Given the description of an element on the screen output the (x, y) to click on. 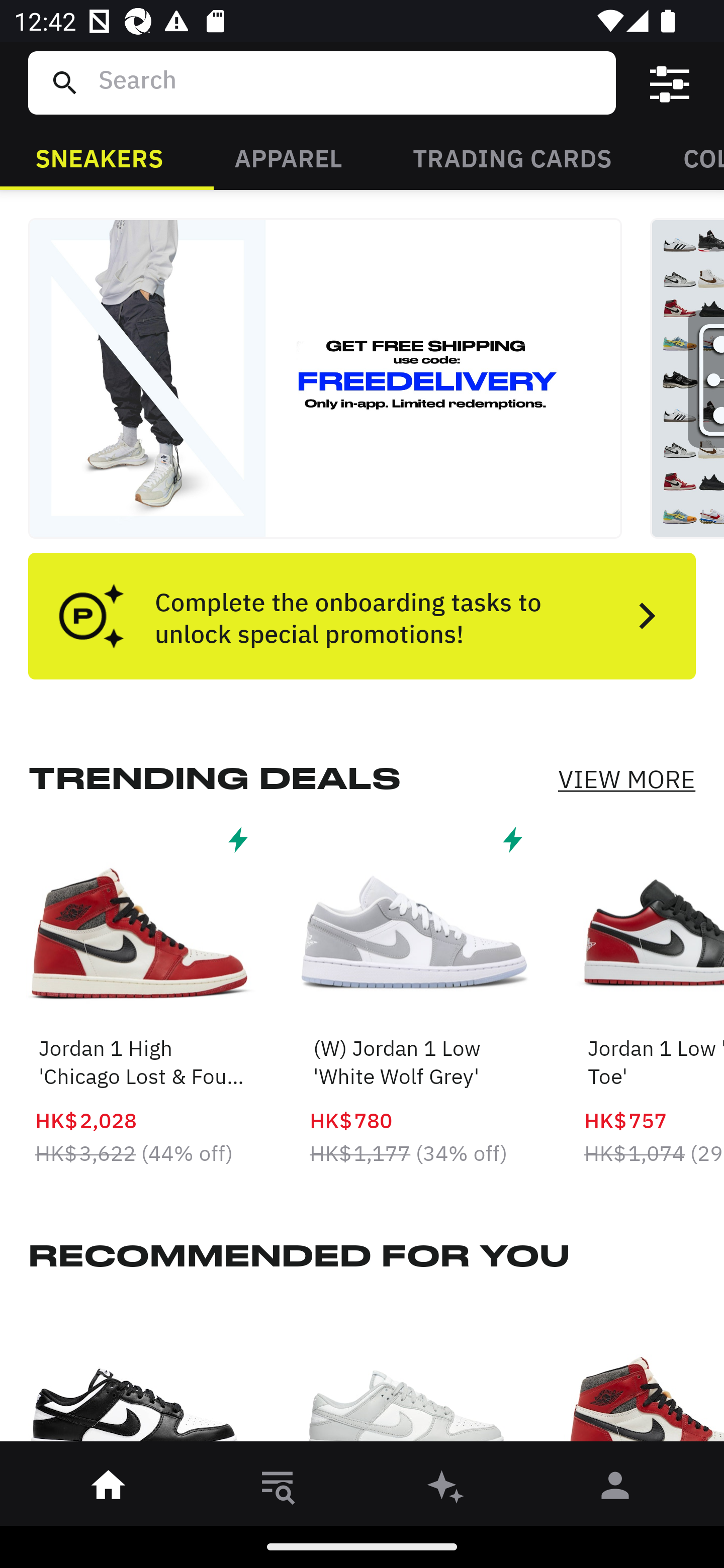
Search (349, 82)
 (669, 82)
SNEAKERS (99, 156)
APPAREL (287, 156)
TRADING CARDS (512, 156)
VIEW MORE (626, 779)
󰋜 (108, 1488)
󱎸 (277, 1488)
󰫢 (446, 1488)
󰀄 (615, 1488)
